Given the description of an element on the screen output the (x, y) to click on. 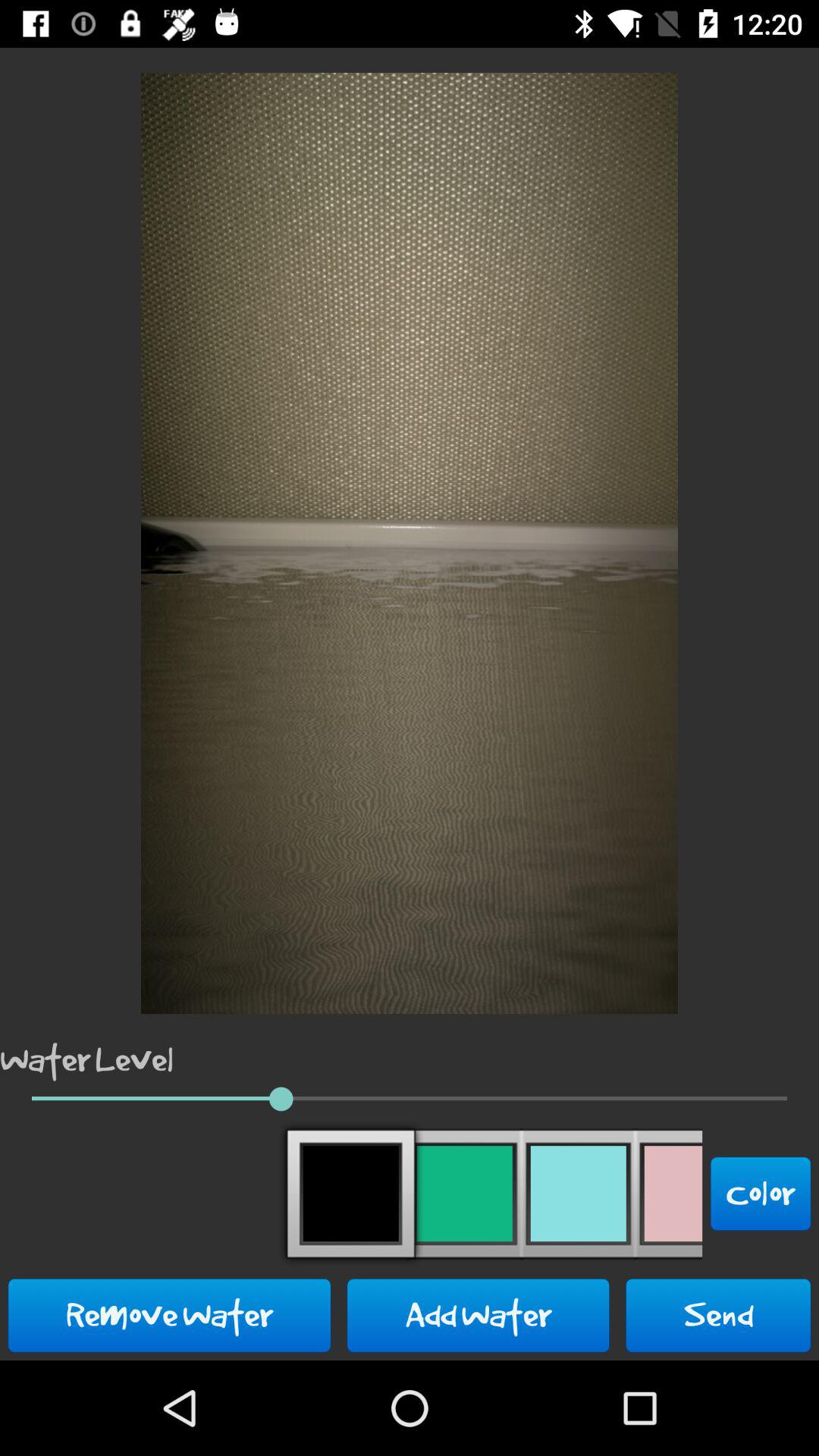
choose the icon above send icon (760, 1193)
